Given the description of an element on the screen output the (x, y) to click on. 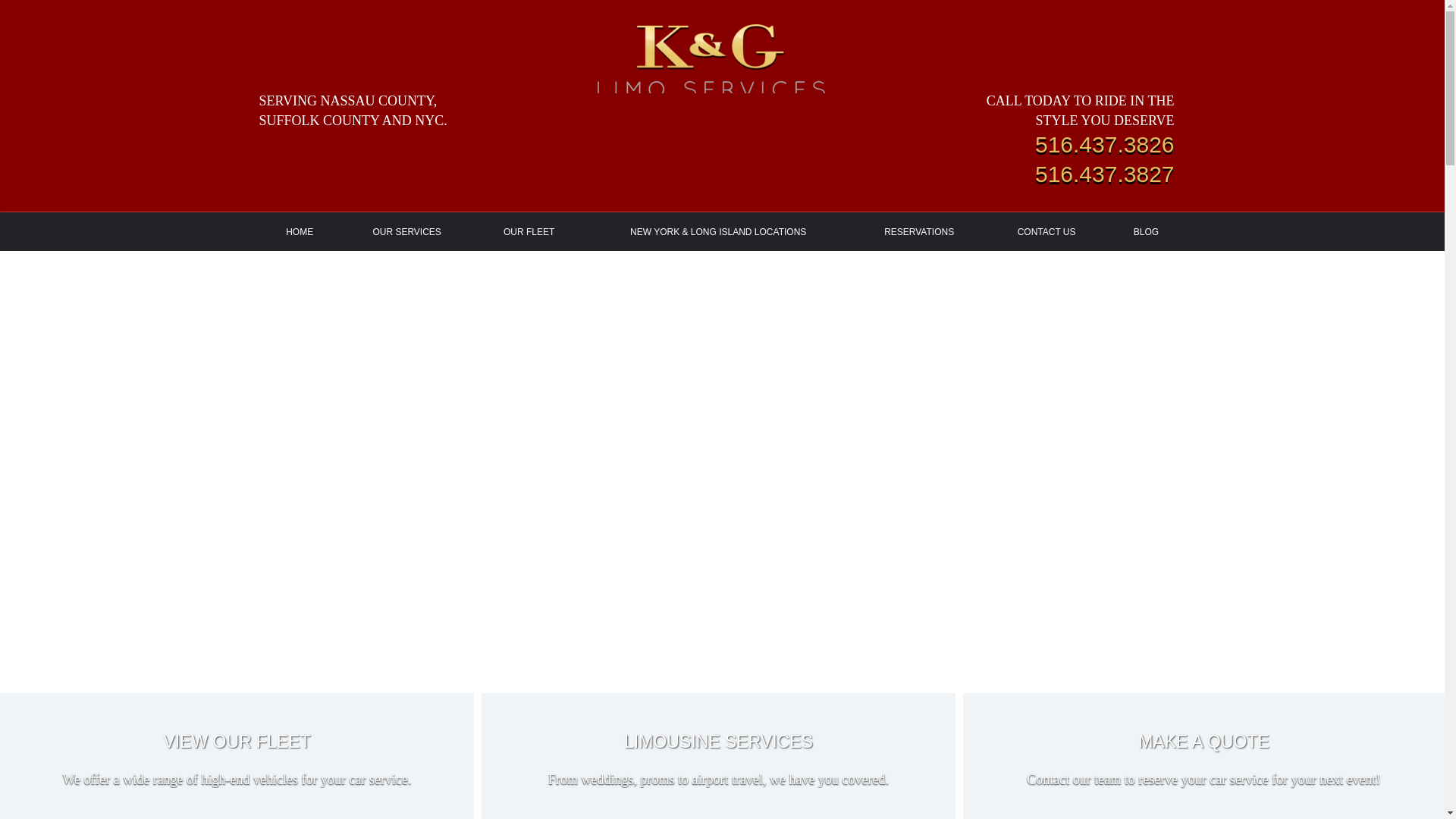
HOME (299, 231)
CONTACT US (1046, 231)
OUR SERVICES (406, 231)
RESERVATIONS (918, 231)
516.437.3827 (1104, 176)
516.437.3826 (1104, 146)
BLOG (1145, 231)
